Given the description of an element on the screen output the (x, y) to click on. 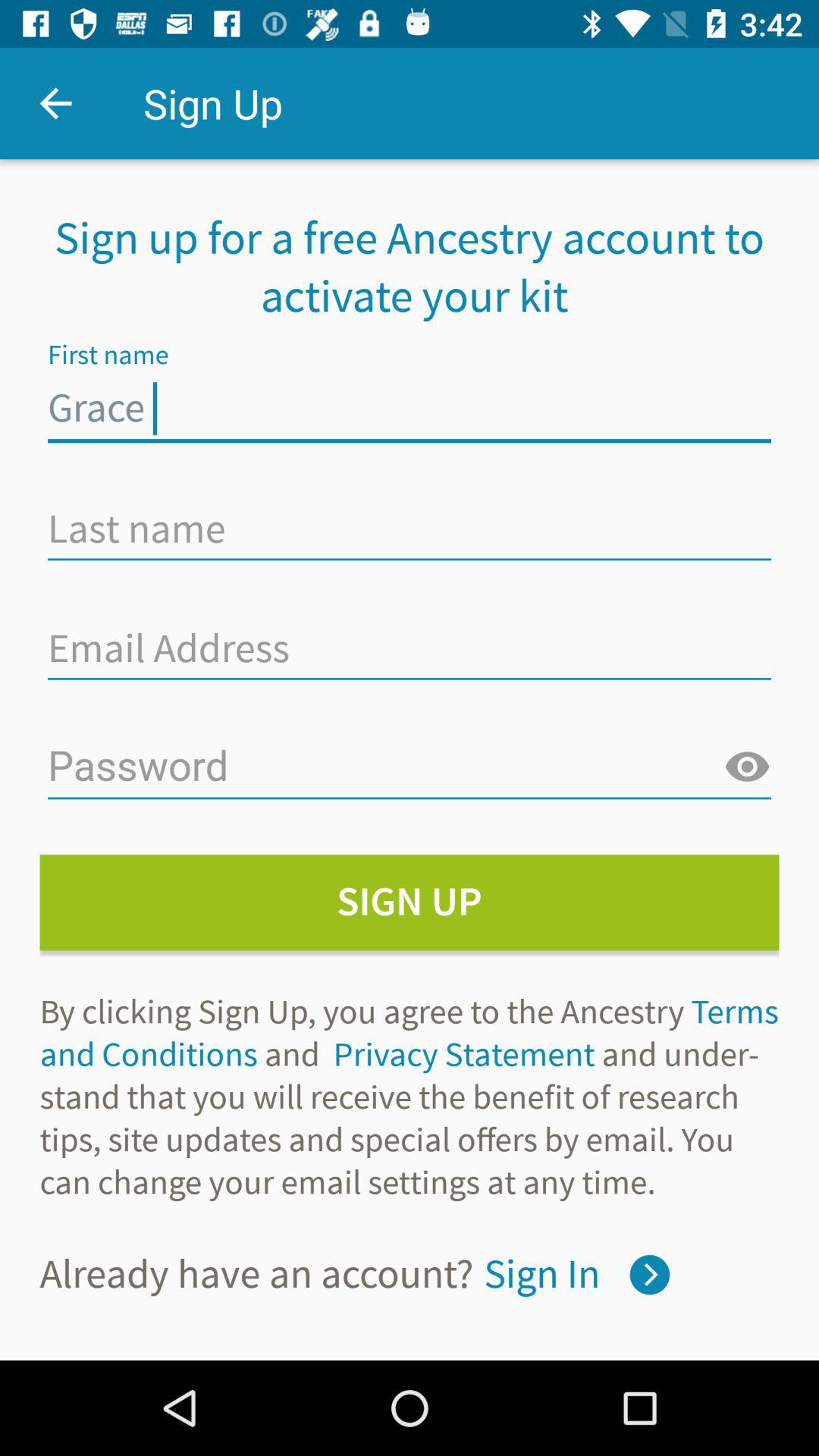
type here (409, 528)
